Given the description of an element on the screen output the (x, y) to click on. 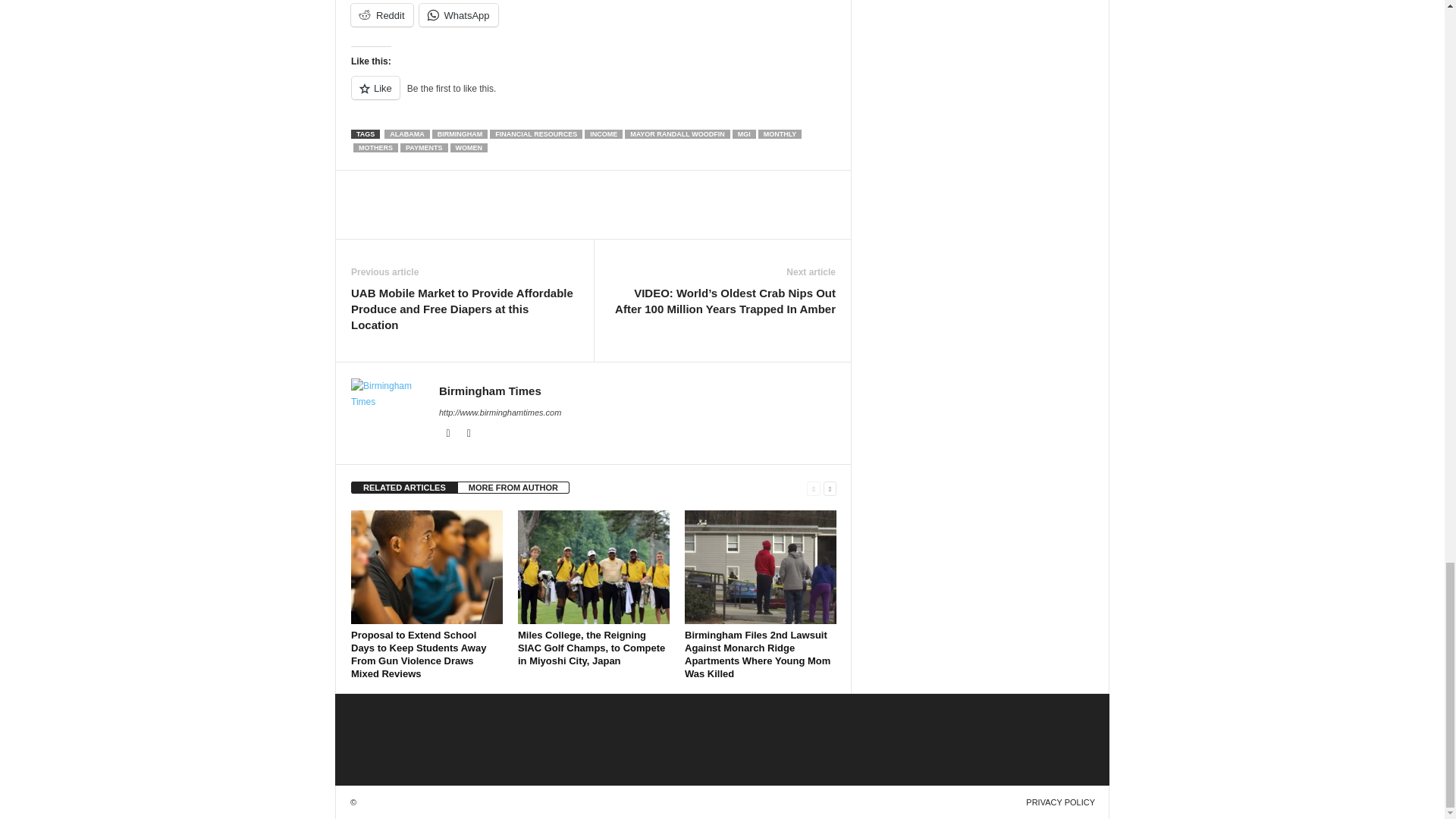
Click to share on WhatsApp (458, 15)
Click to share on Reddit (381, 15)
Like or Reblog (592, 96)
